Given the description of an element on the screen output the (x, y) to click on. 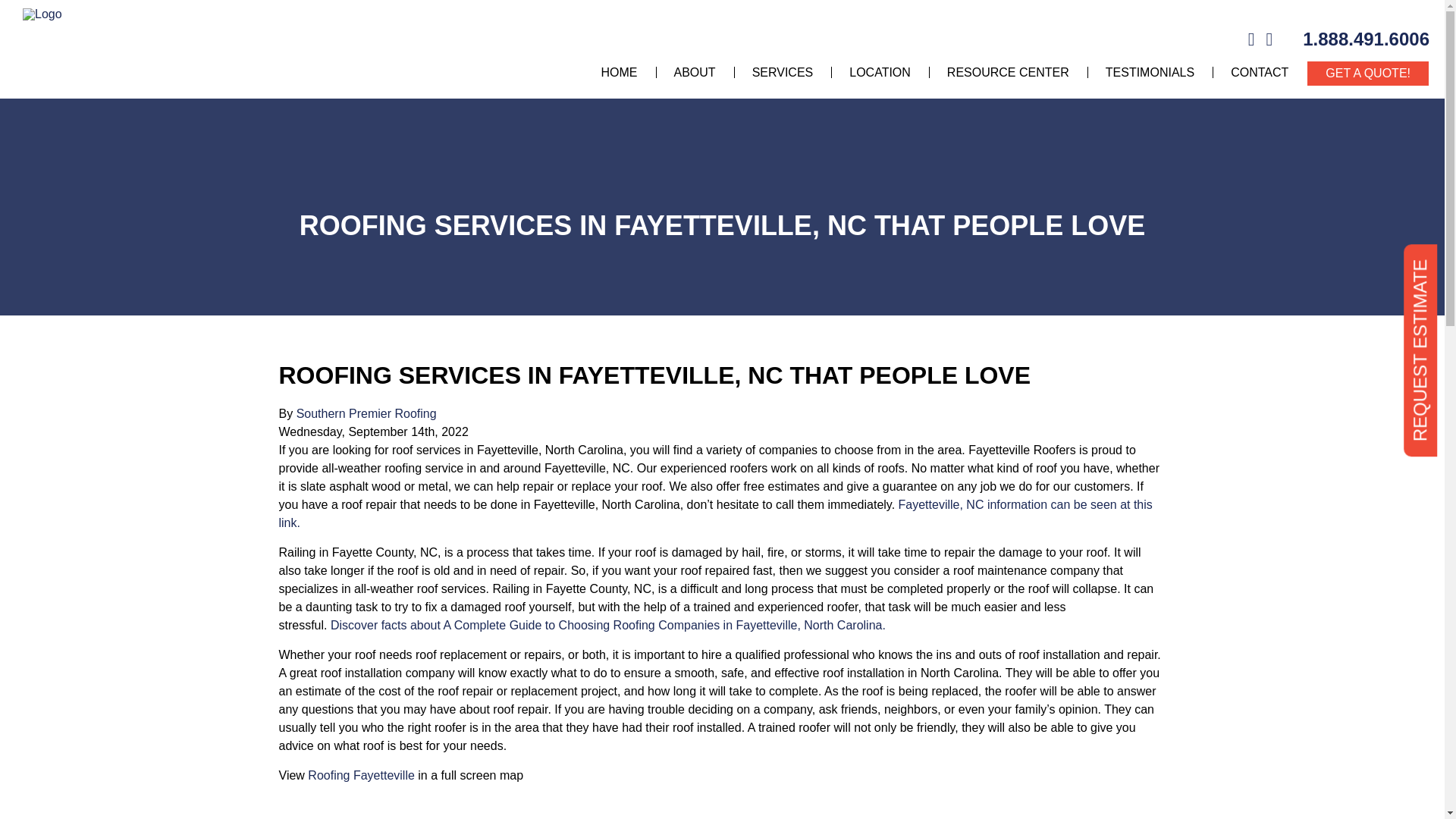
TESTIMONIALS (1149, 72)
Southern Premier Roofing (366, 413)
RESOURCE CENTER (1007, 72)
ABOUT (694, 72)
Roofing Fayetteville (360, 775)
HOME (618, 72)
CONTACT (1259, 72)
GET A QUOTE! (1367, 73)
Fayetteville, NC information can be seen at this link. (716, 513)
